Given the description of an element on the screen output the (x, y) to click on. 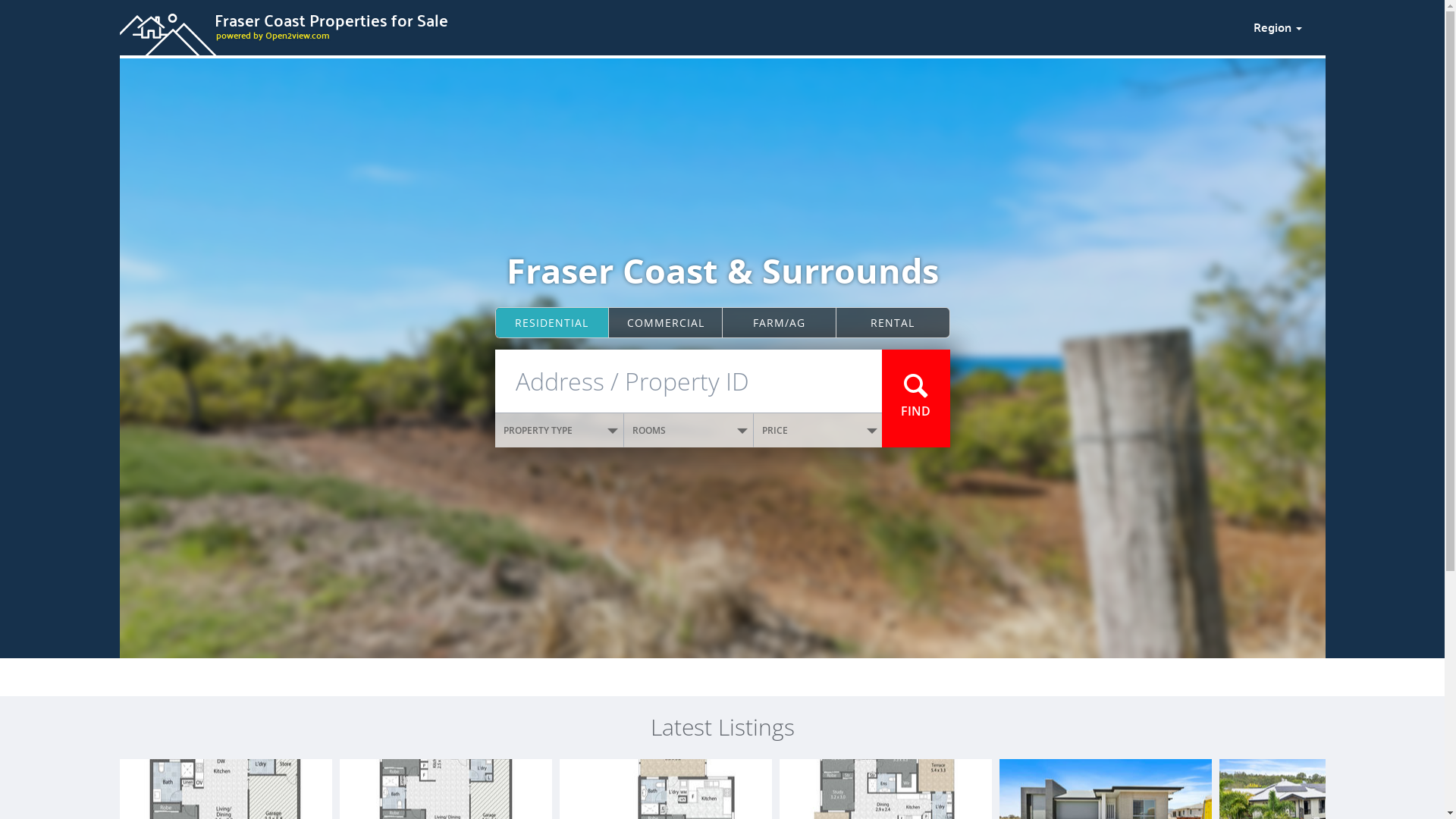
PROPERTY TYPE Element type: text (559, 430)
Fraser Coast Properties for Sale
powered by Open2view.com Element type: text (676, 25)
PRICE Element type: text (817, 430)
ROOMS Element type: text (688, 430)
